Given the description of an element on the screen output the (x, y) to click on. 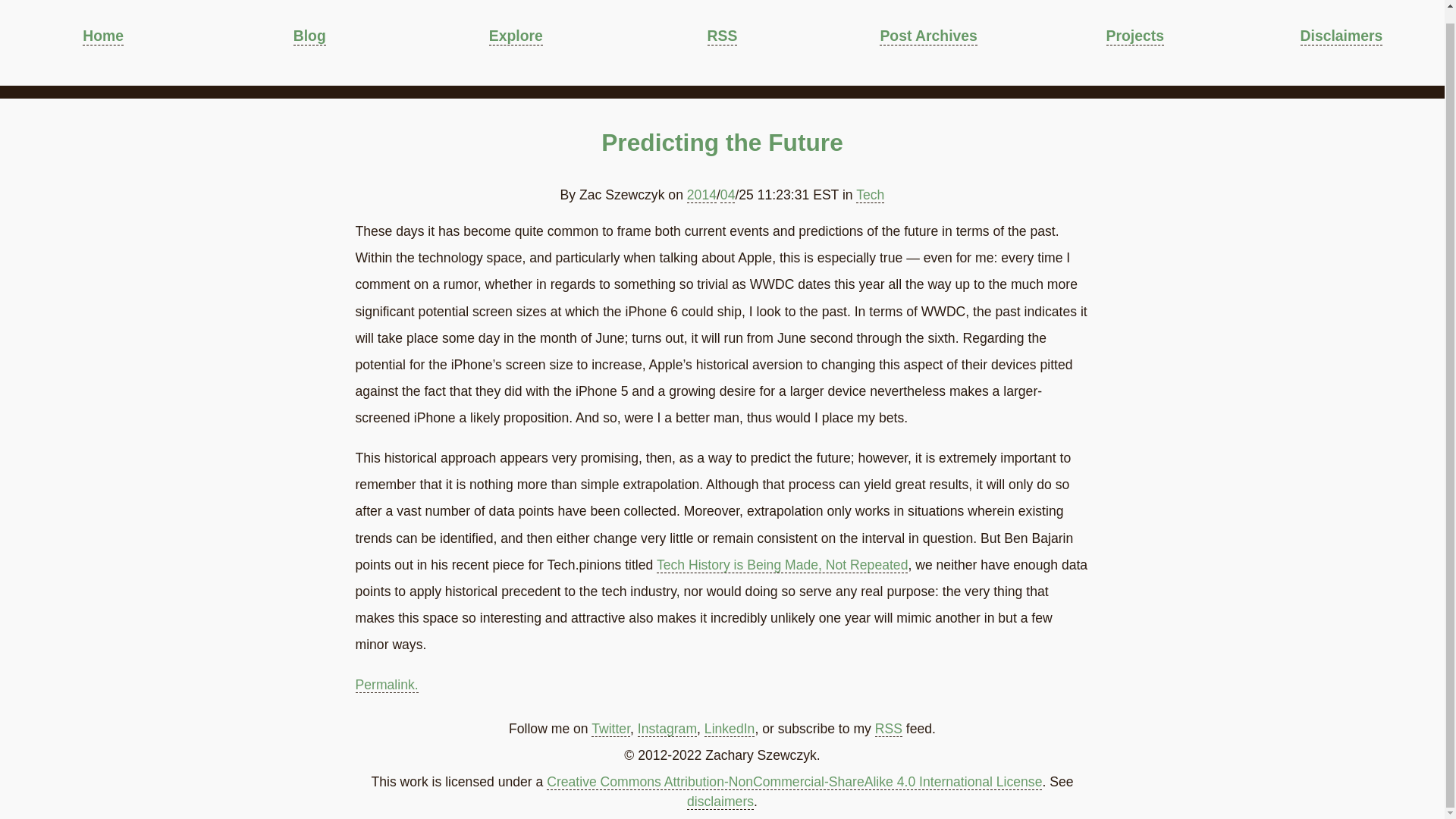
Explore (516, 36)
Disclaimers (1341, 36)
Tech (869, 195)
disclaimers (720, 801)
Home (102, 36)
RSS (888, 729)
2014 (701, 195)
Predicting the Future (722, 142)
Instagram (667, 729)
Projects (1134, 36)
Blog (310, 36)
Post Archives (927, 36)
04 (727, 195)
Permalink. (386, 684)
